Given the description of an element on the screen output the (x, y) to click on. 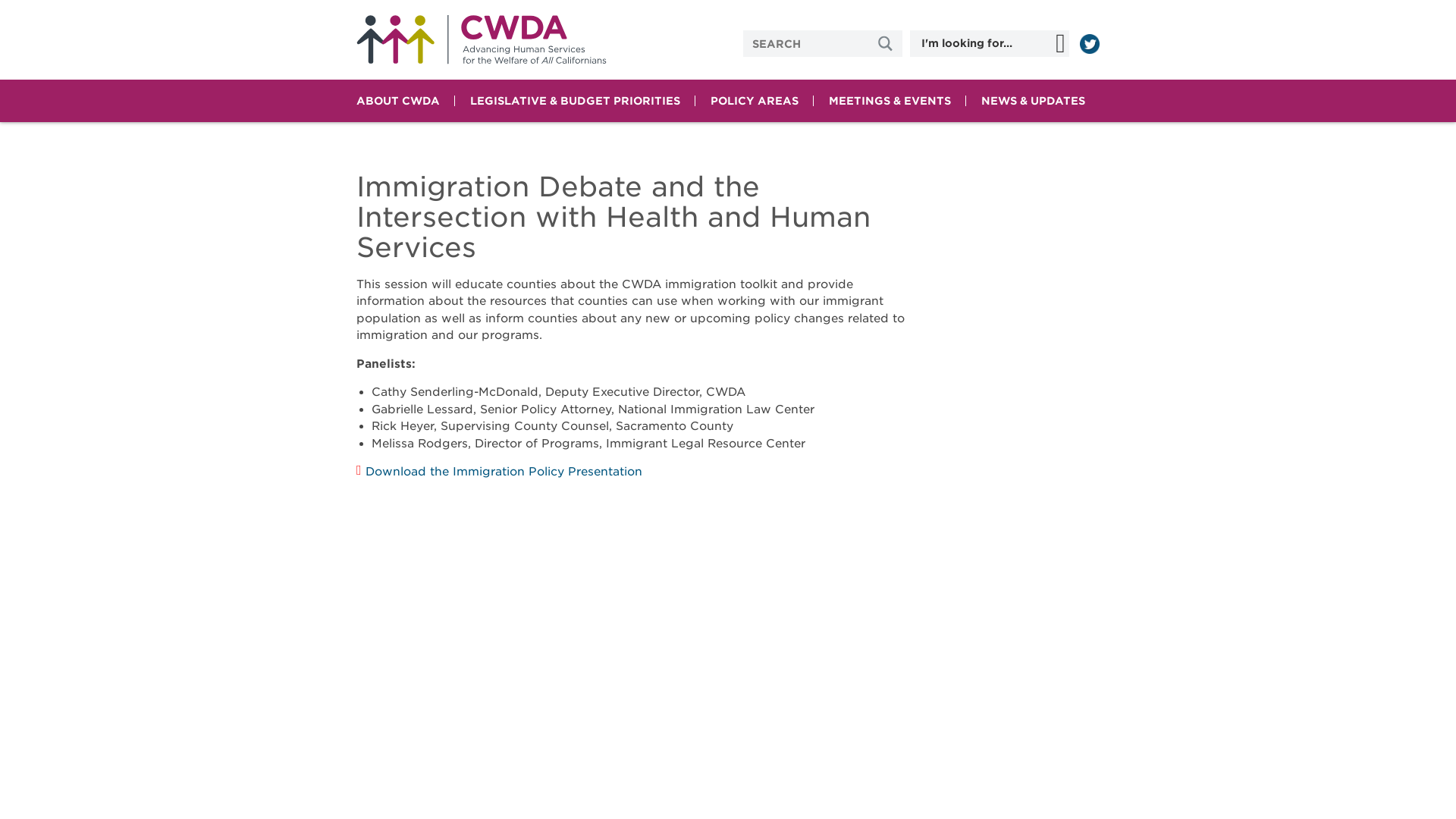
Home (481, 39)
About CWDA (397, 100)
Policy Areas (754, 100)
ABOUT CWDA (397, 100)
Search keywords (807, 43)
Home (481, 39)
POLICY AREAS (754, 100)
